Given the description of an element on the screen output the (x, y) to click on. 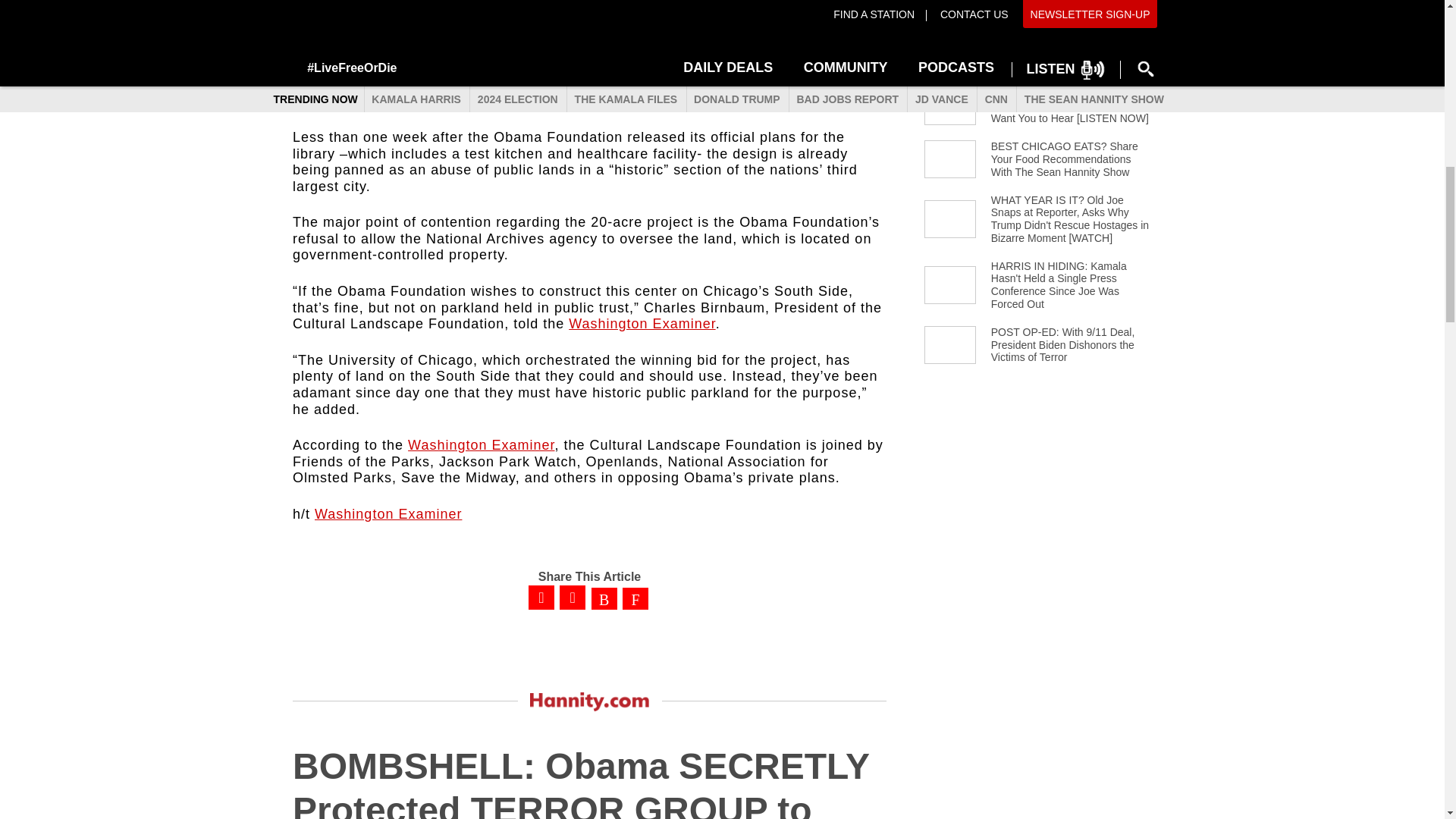
Share on Gettr (604, 599)
Share on Facebook (541, 597)
Share on Truth Social (635, 599)
Washington Examiner (387, 513)
Washington Examiner (641, 323)
Washington Examiner (480, 444)
Share on Twitter (572, 597)
